Given the description of an element on the screen output the (x, y) to click on. 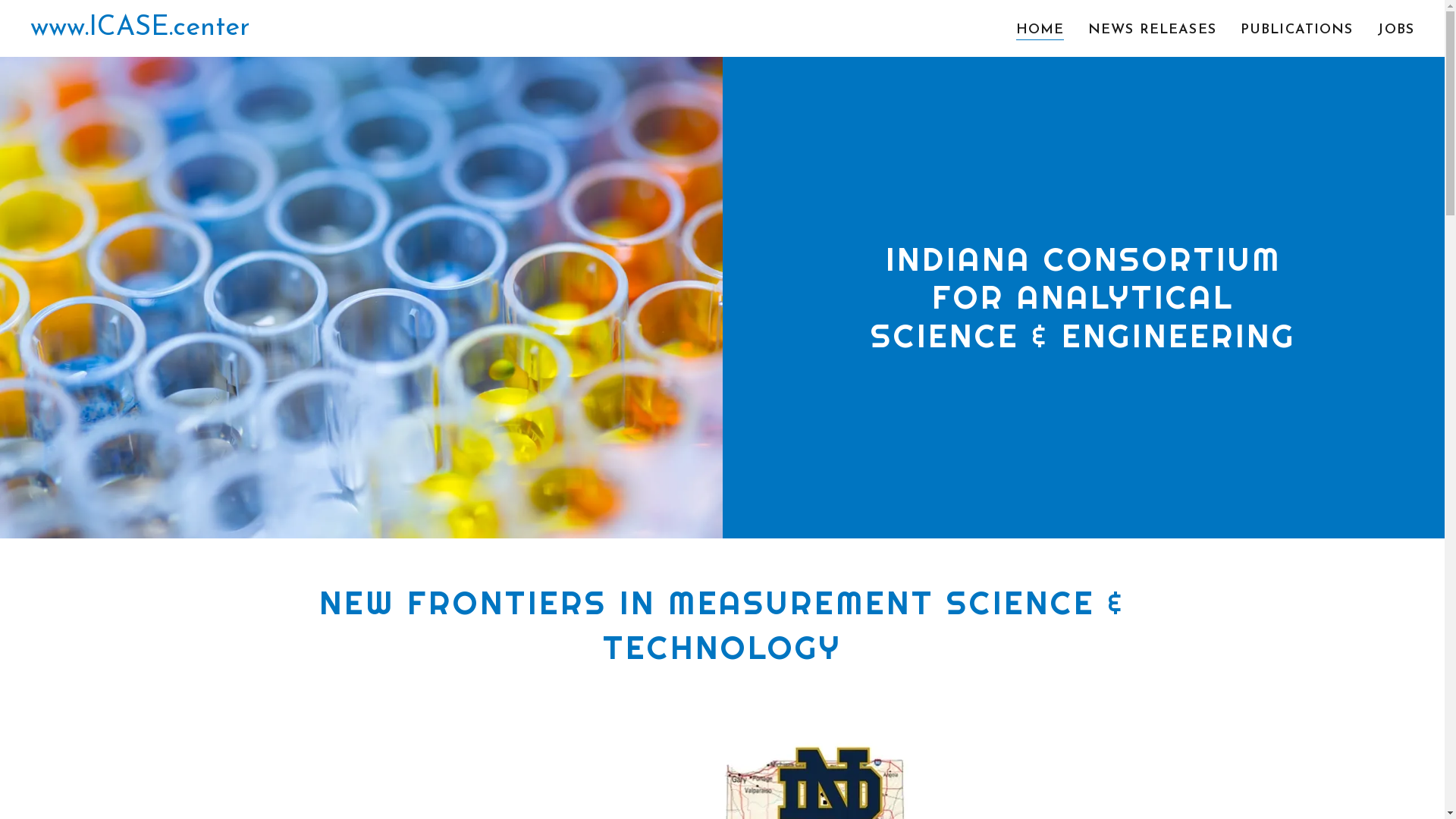
NEWS RELEASES Element type: text (1151, 29)
PUBLICATIONS Element type: text (1297, 29)
JOBS Element type: text (1395, 29)
www.ICASE.center Element type: text (140, 31)
HOME Element type: text (1040, 30)
